Given the description of an element on the screen output the (x, y) to click on. 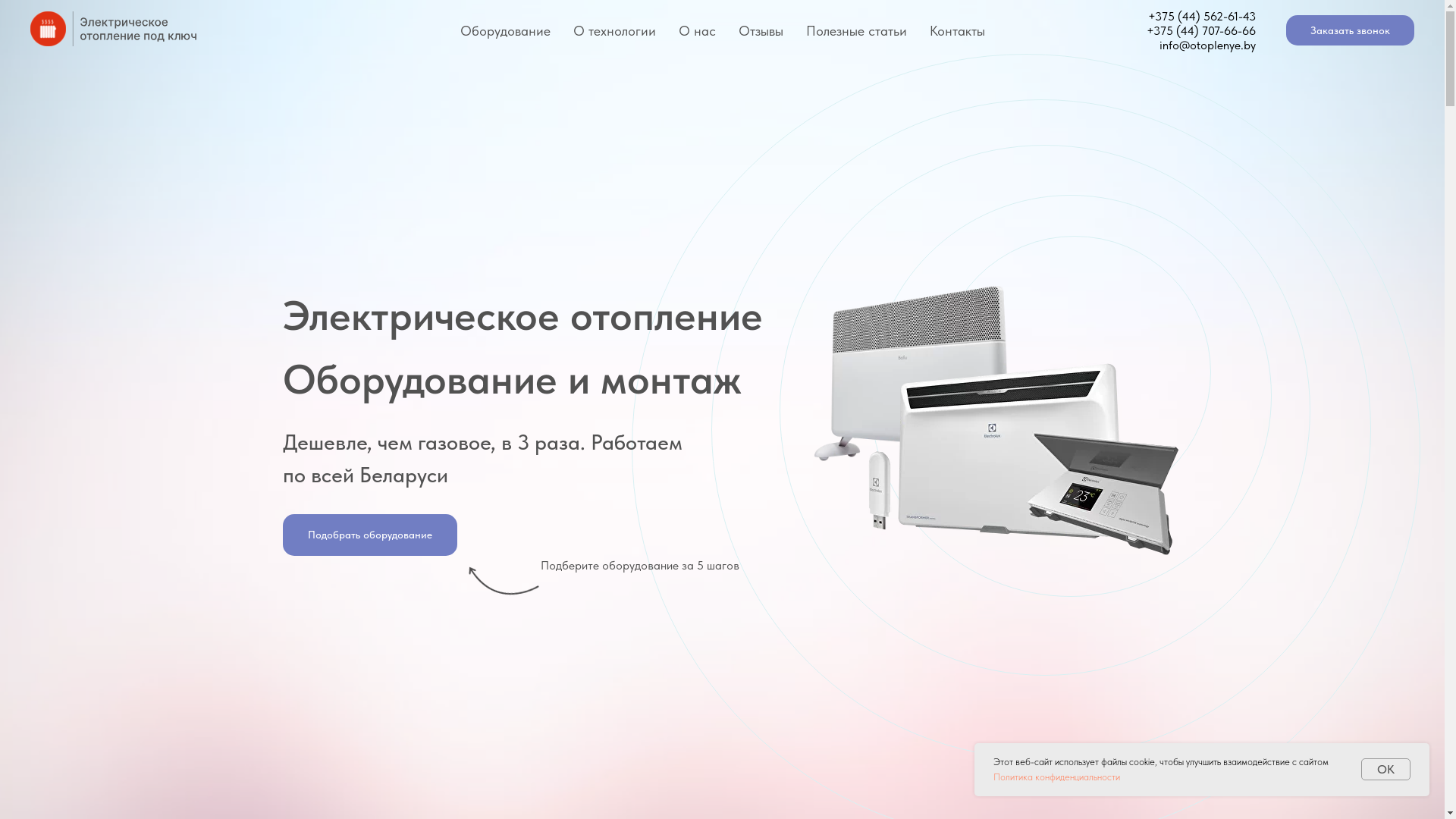
+375 (44) 707-66-66 Element type: text (1200, 29)
info@otoplenye.by Element type: text (1207, 44)
+375 (44) 562-61-43 Element type: text (1201, 16)
